Given the description of an element on the screen output the (x, y) to click on. 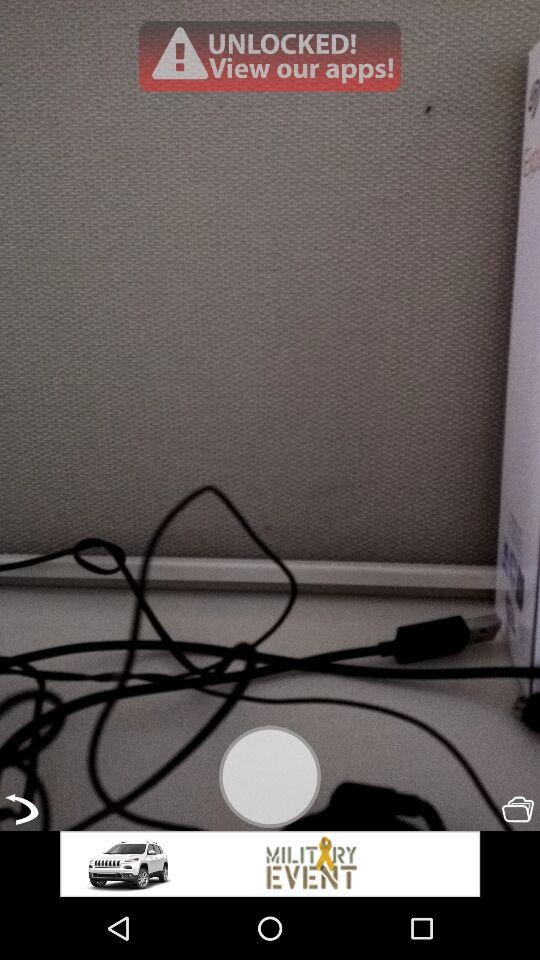
advertising (270, 864)
